Given the description of an element on the screen output the (x, y) to click on. 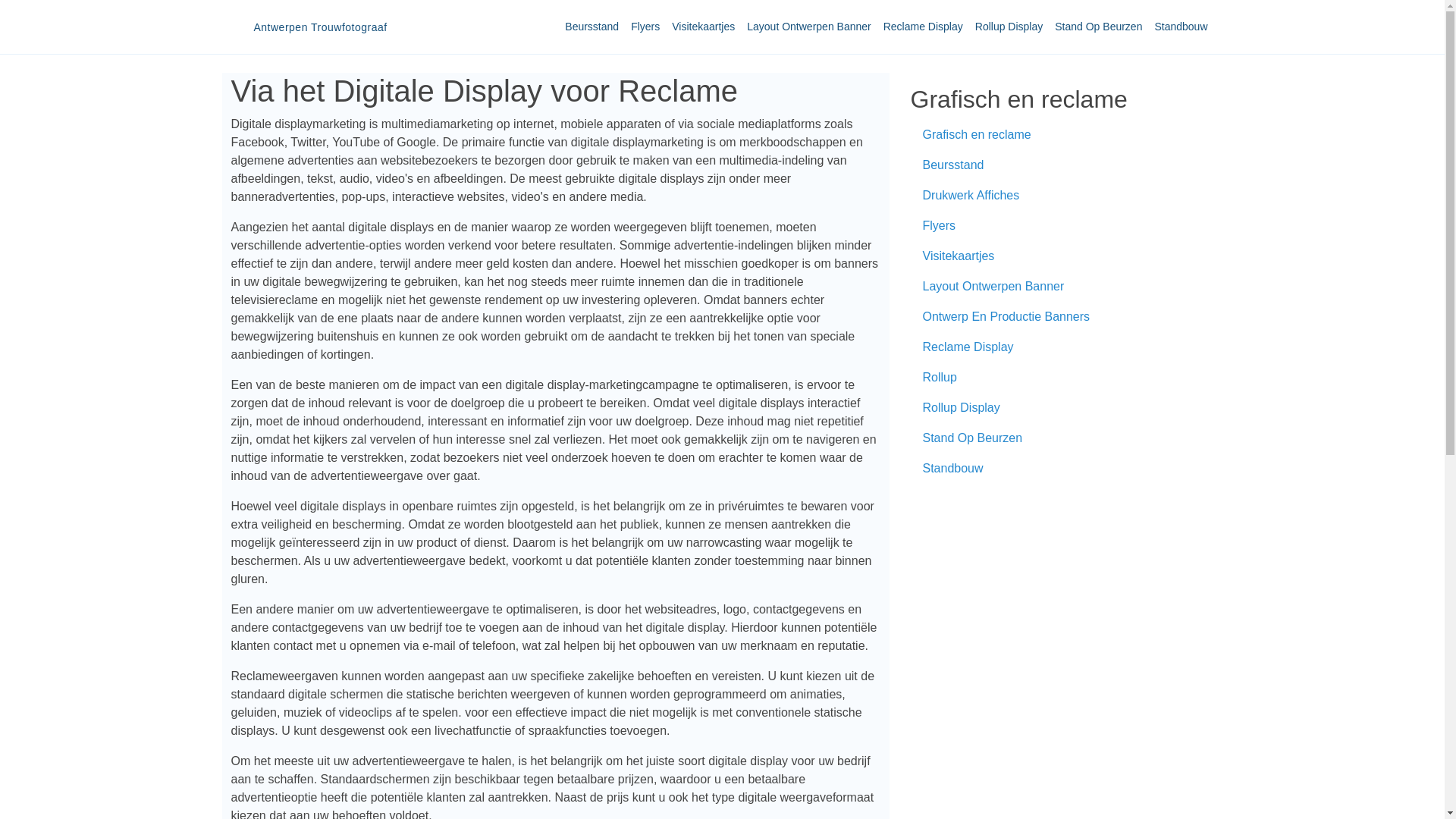
Stand Op Beurzen Element type: text (1055, 438)
Visitekaartjes Element type: text (1055, 256)
Antwerpen Trouwfotograaf Element type: text (308, 26)
Stand Op Beurzen Element type: text (1098, 26)
Rollup Element type: text (1055, 377)
Flyers Element type: text (644, 26)
Grafisch en reclame Element type: text (1055, 134)
Standbouw Element type: text (1055, 468)
Layout Ontwerpen Banner Element type: text (808, 26)
Visitekaartjes Element type: text (702, 26)
Beursstand Element type: text (1055, 165)
Standbouw Element type: text (1180, 26)
Reclame Display Element type: text (1055, 347)
Flyers Element type: text (1055, 225)
Rollup Display Element type: text (1008, 26)
Drukwerk Affiches Element type: text (1055, 195)
Beursstand Element type: text (591, 26)
Ontwerp En Productie Banners Element type: text (1055, 316)
Rollup Display Element type: text (1055, 407)
Reclame Display Element type: text (923, 26)
Layout Ontwerpen Banner Element type: text (1055, 286)
